Given the description of an element on the screen output the (x, y) to click on. 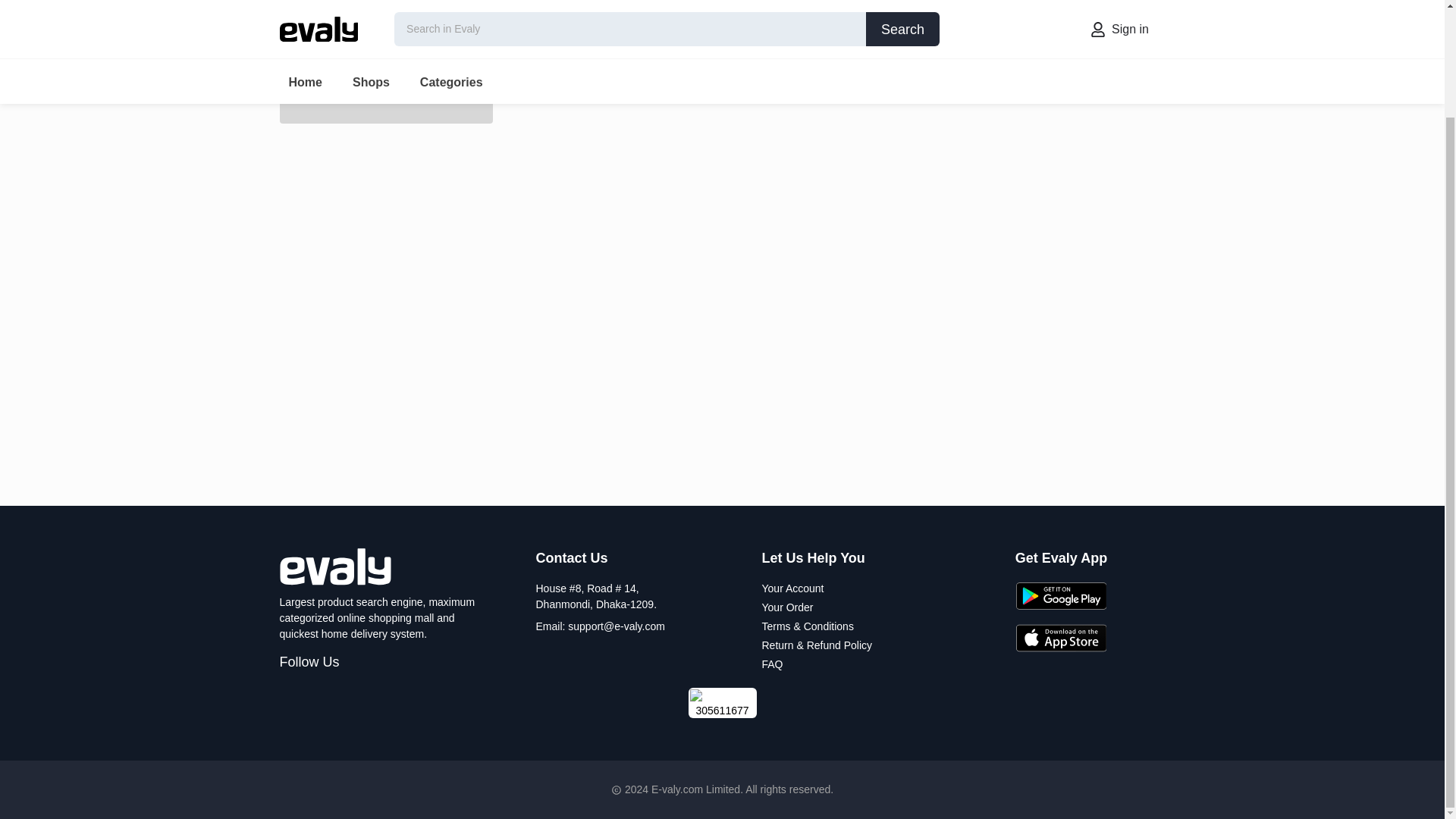
FAQ (772, 664)
Your Account (792, 588)
Your Order (786, 607)
